Given the description of an element on the screen output the (x, y) to click on. 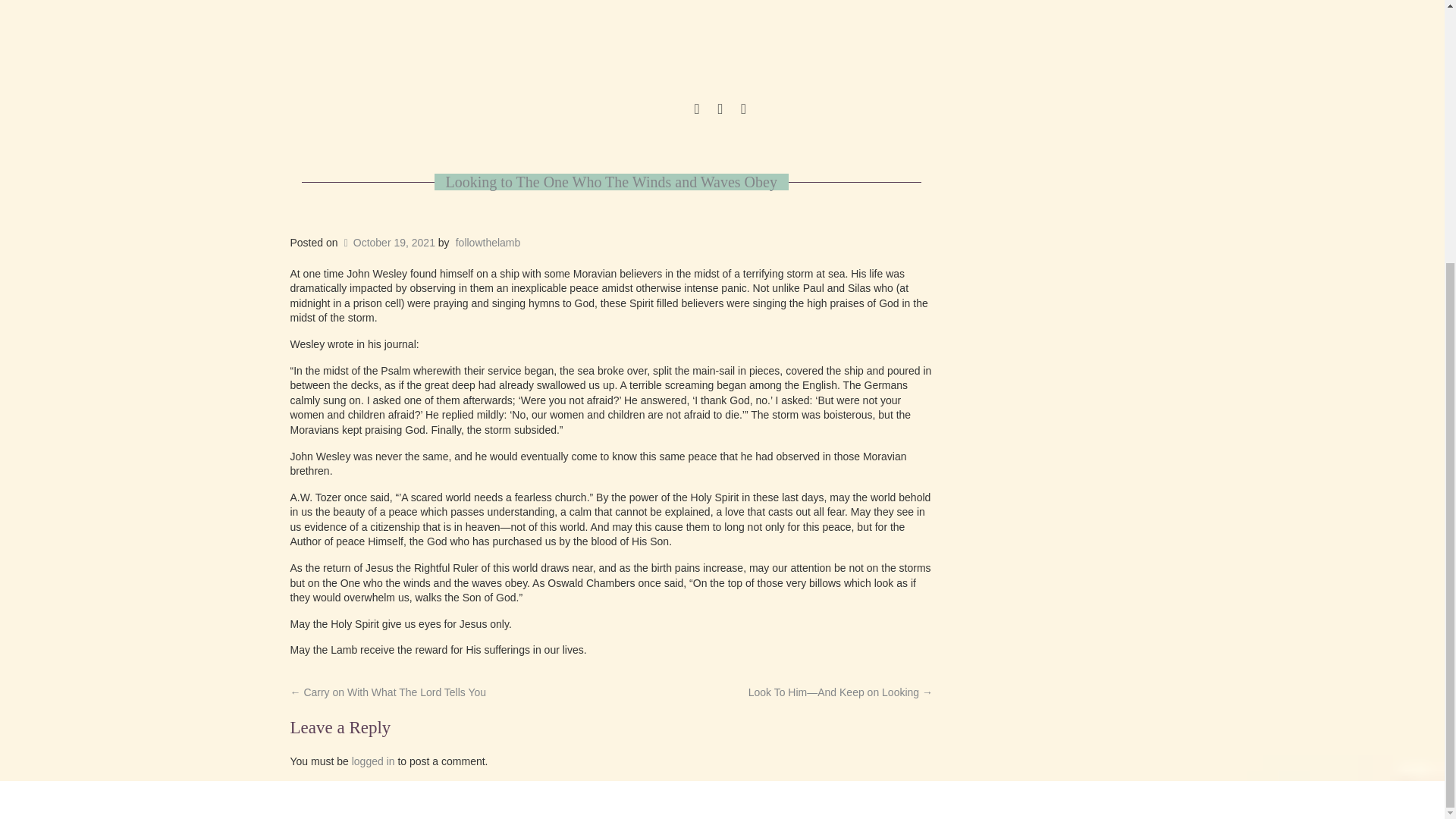
FACEBOOK (742, 108)
Facebook (742, 108)
TWITTER (696, 108)
logged in (373, 761)
Twitter (696, 108)
followthelamb (488, 242)
INSTAGRAM (720, 108)
Instagram (720, 108)
October 19, 2021 (387, 242)
Looking to The One Who The Winds and Waves Obey (611, 181)
